Given the description of an element on the screen output the (x, y) to click on. 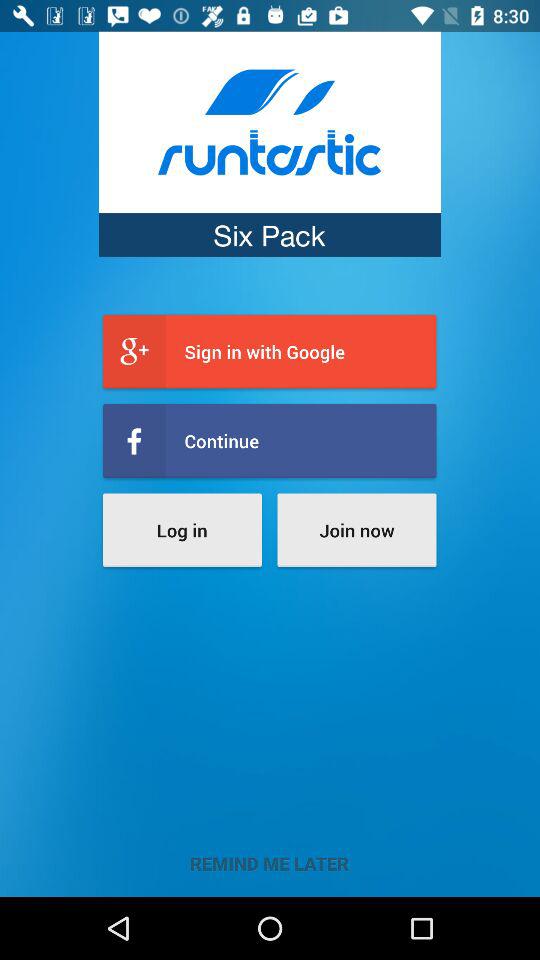
swipe until remind me later item (269, 863)
